Given the description of an element on the screen output the (x, y) to click on. 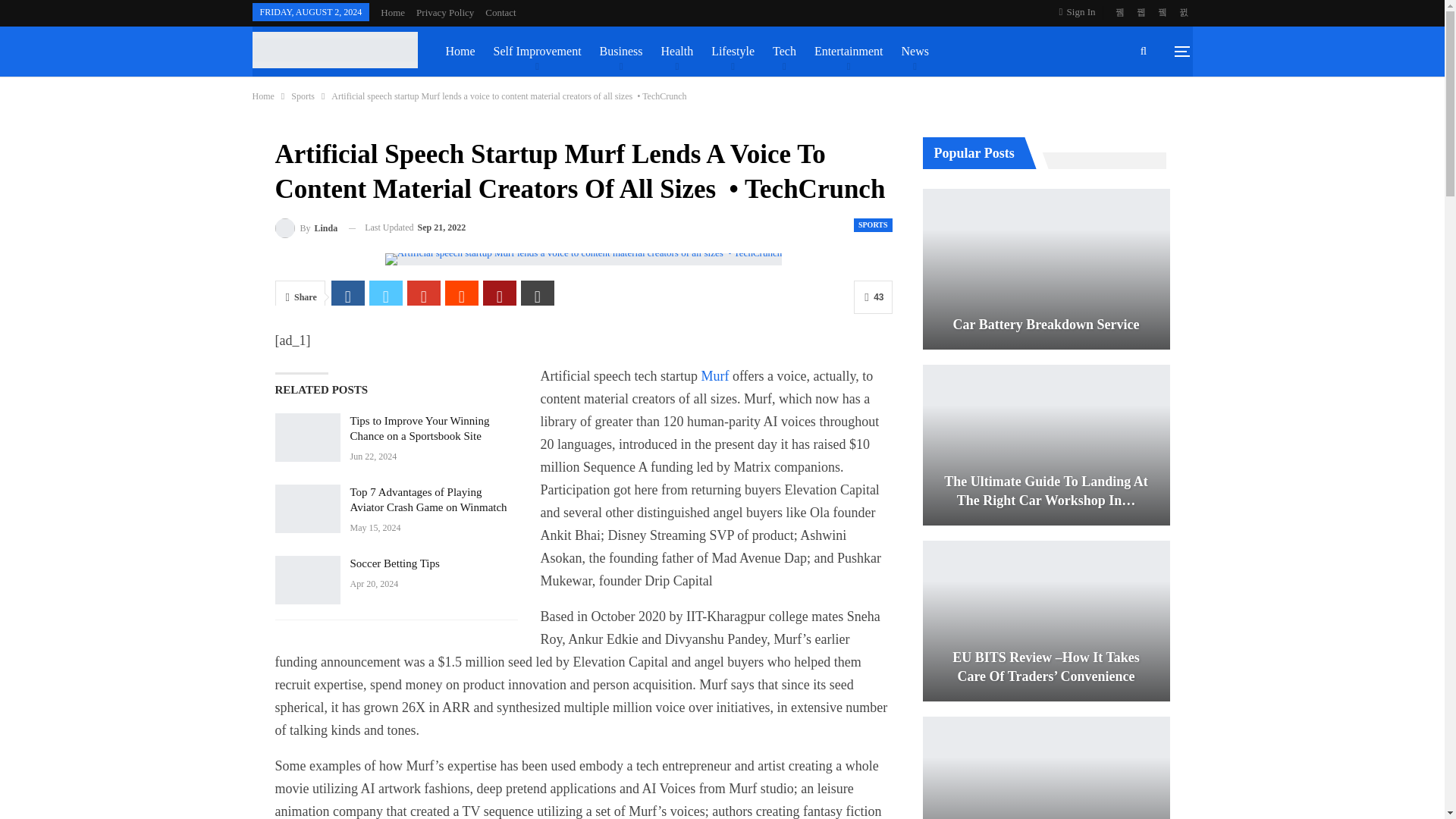
Top 7 Advantages of Playing Aviator Crash Game on Winmatch (307, 508)
Business (620, 51)
Home (392, 12)
Contact (499, 12)
Tips to Improve Your Winning Chance on a Sportsbook Site (307, 437)
Sign In (1080, 12)
Self Improvement (536, 51)
Browse Author Articles (306, 227)
Privacy Policy (445, 12)
Soccer Betting Tips (307, 580)
